Given the description of an element on the screen output the (x, y) to click on. 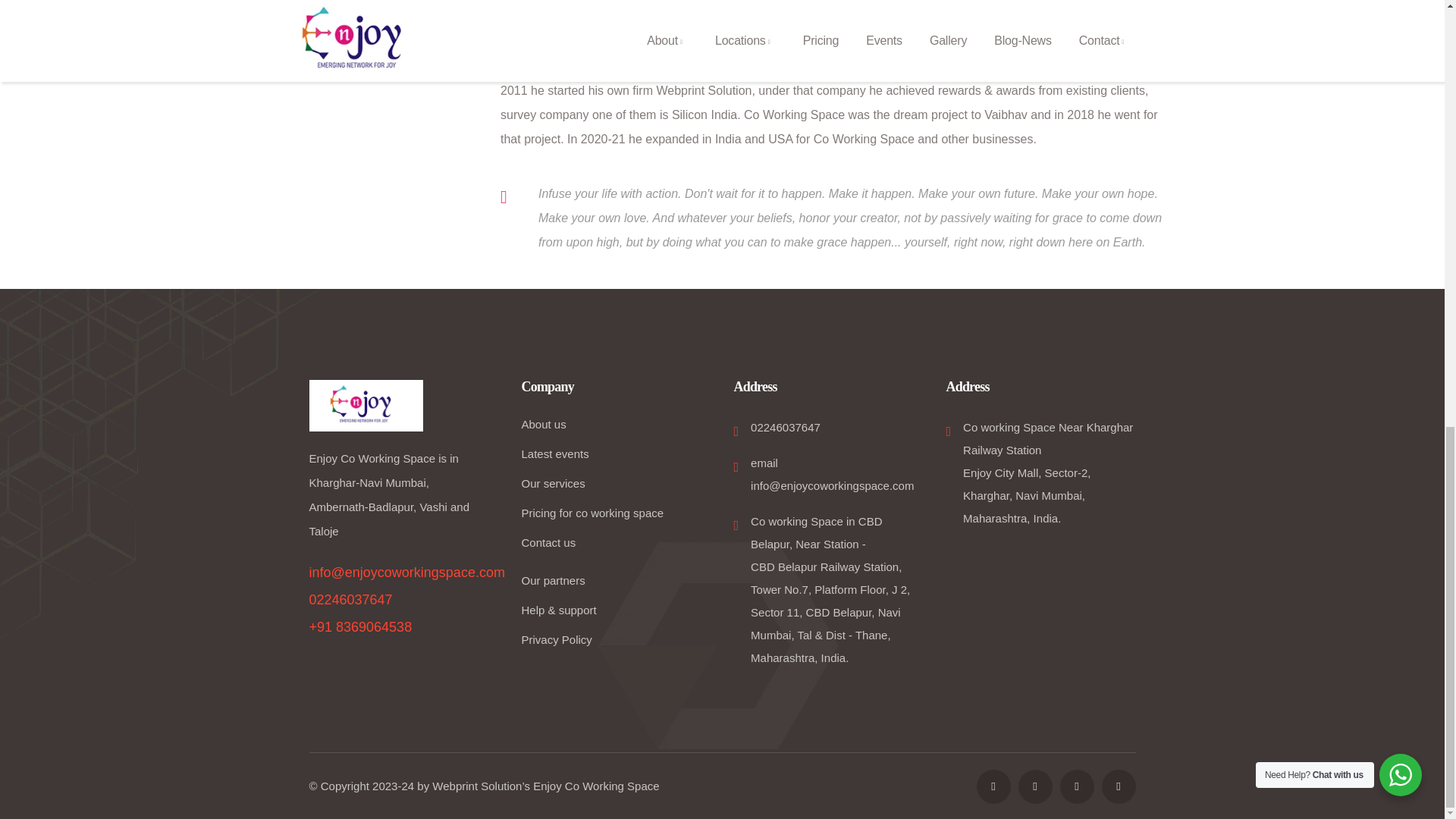
Home (365, 406)
